Given the description of an element on the screen output the (x, y) to click on. 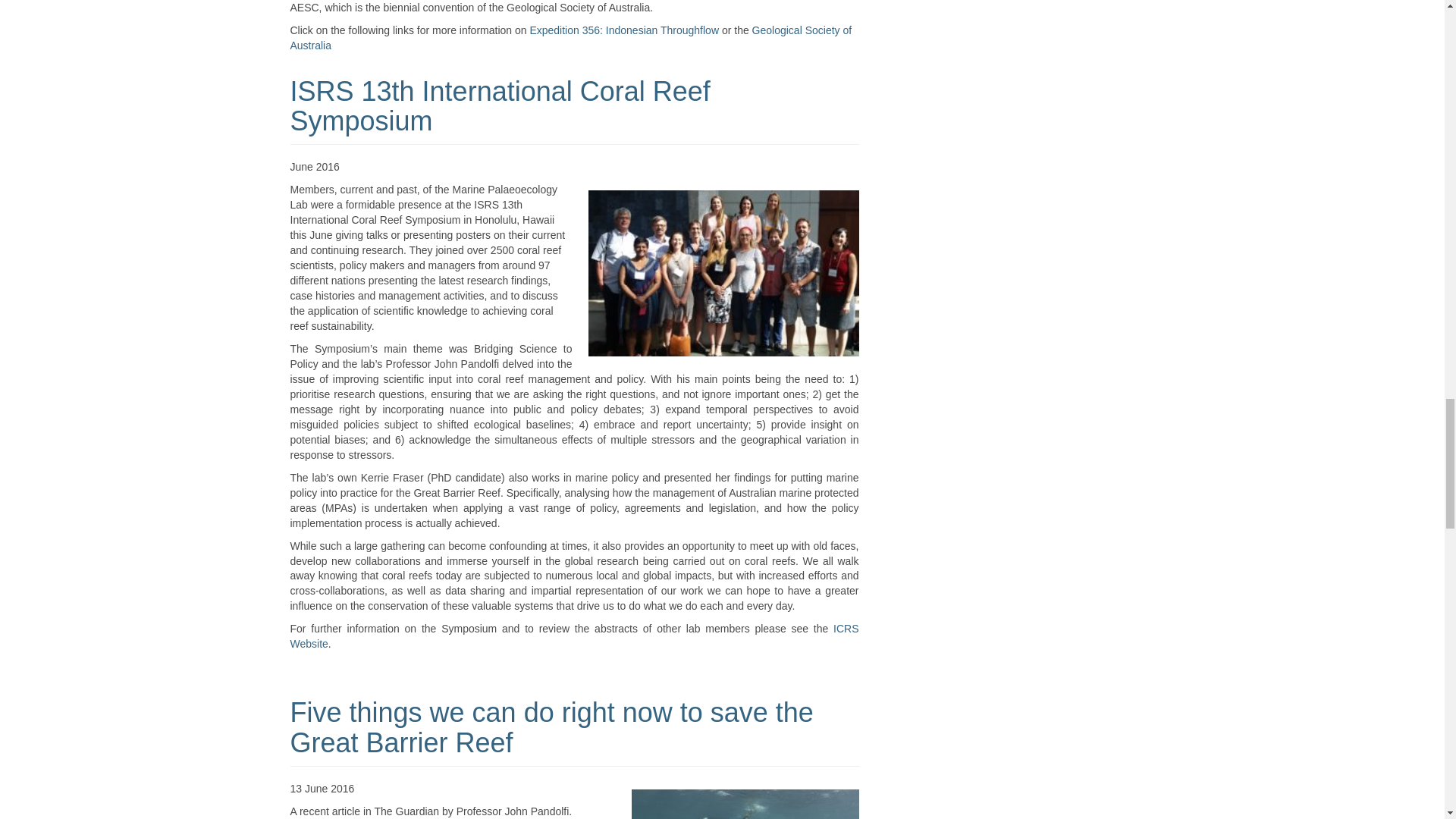
ICRS Website (574, 636)
Geological Society of Australia (570, 37)
ISRS 13th International Coral Reef Symposium (499, 106)
Expedition 356: Indonesian Throughflow (624, 30)
